Given the description of an element on the screen output the (x, y) to click on. 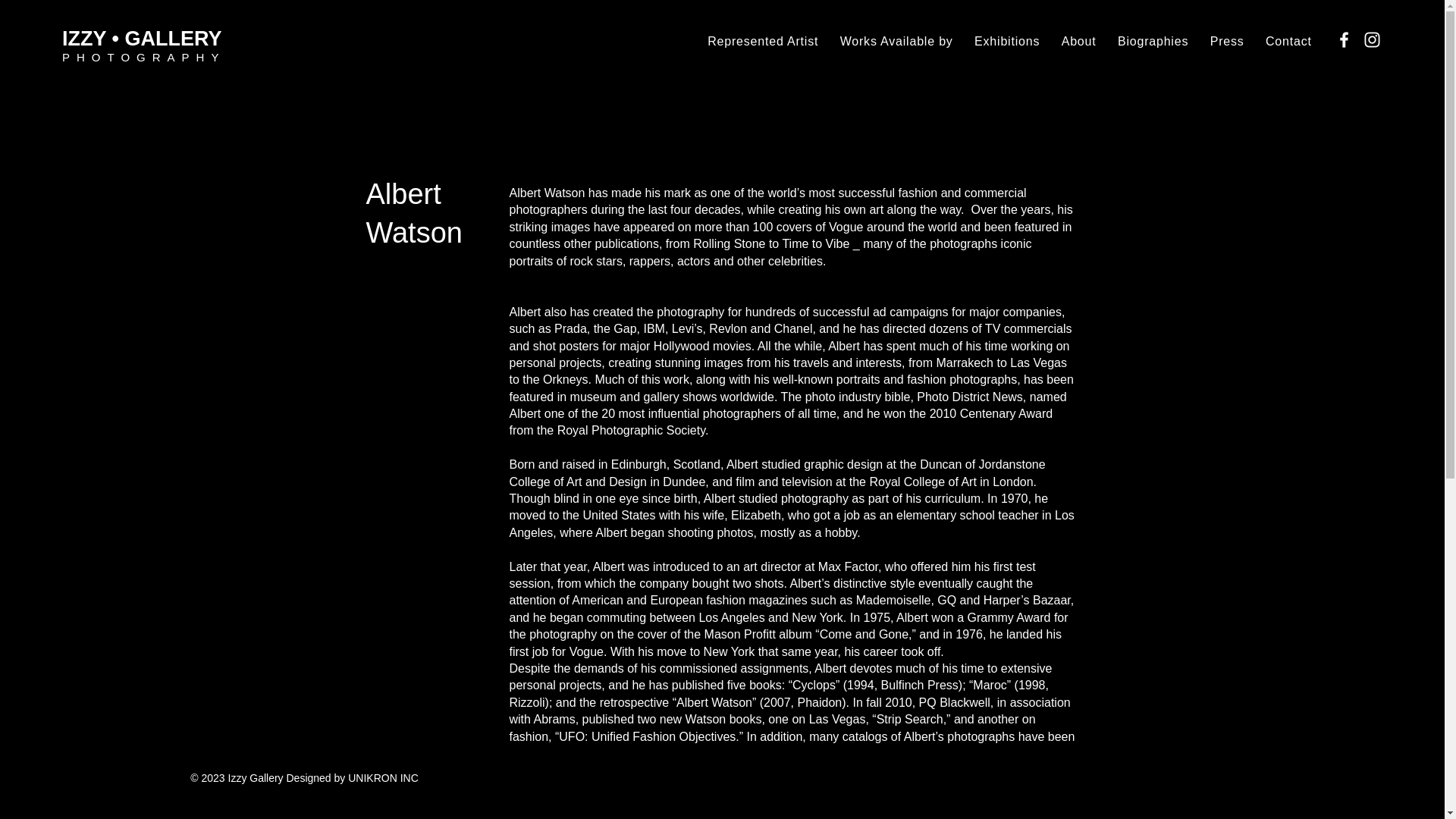
UNIKRON INC (383, 777)
Exhibitions (1007, 41)
Works Available by (895, 41)
Represented Artist (762, 41)
Press (1226, 41)
Contact (1288, 41)
About (1077, 41)
Biographies (1152, 41)
